Given the description of an element on the screen output the (x, y) to click on. 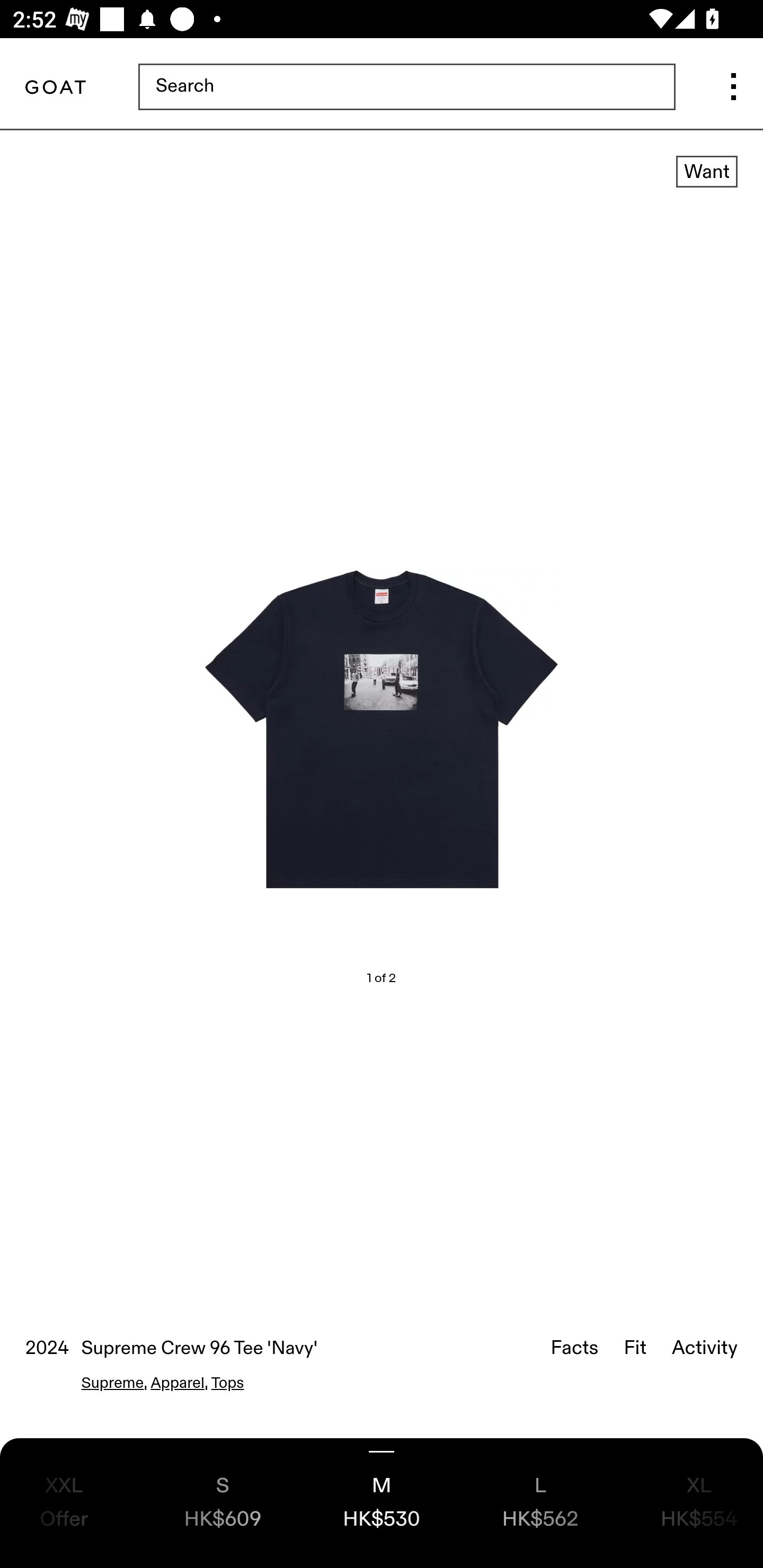
Search (406, 87)
menu (733, 87)
Goat Logo (55, 87)
Want (706, 171)
Supreme Crew 96 Tee 'Navy' (381, 729)
Facts (574, 1348)
Fit (635, 1348)
Activity (703, 1348)
Supreme (112, 1384)
Apparel (177, 1384)
Tops (226, 1384)
XXLOffer (64, 1503)
SHK$609 (222, 1503)
MHK$530 (381, 1503)
LHK$562 (539, 1503)
XLHK$554 (698, 1503)
